Given the description of an element on the screen output the (x, y) to click on. 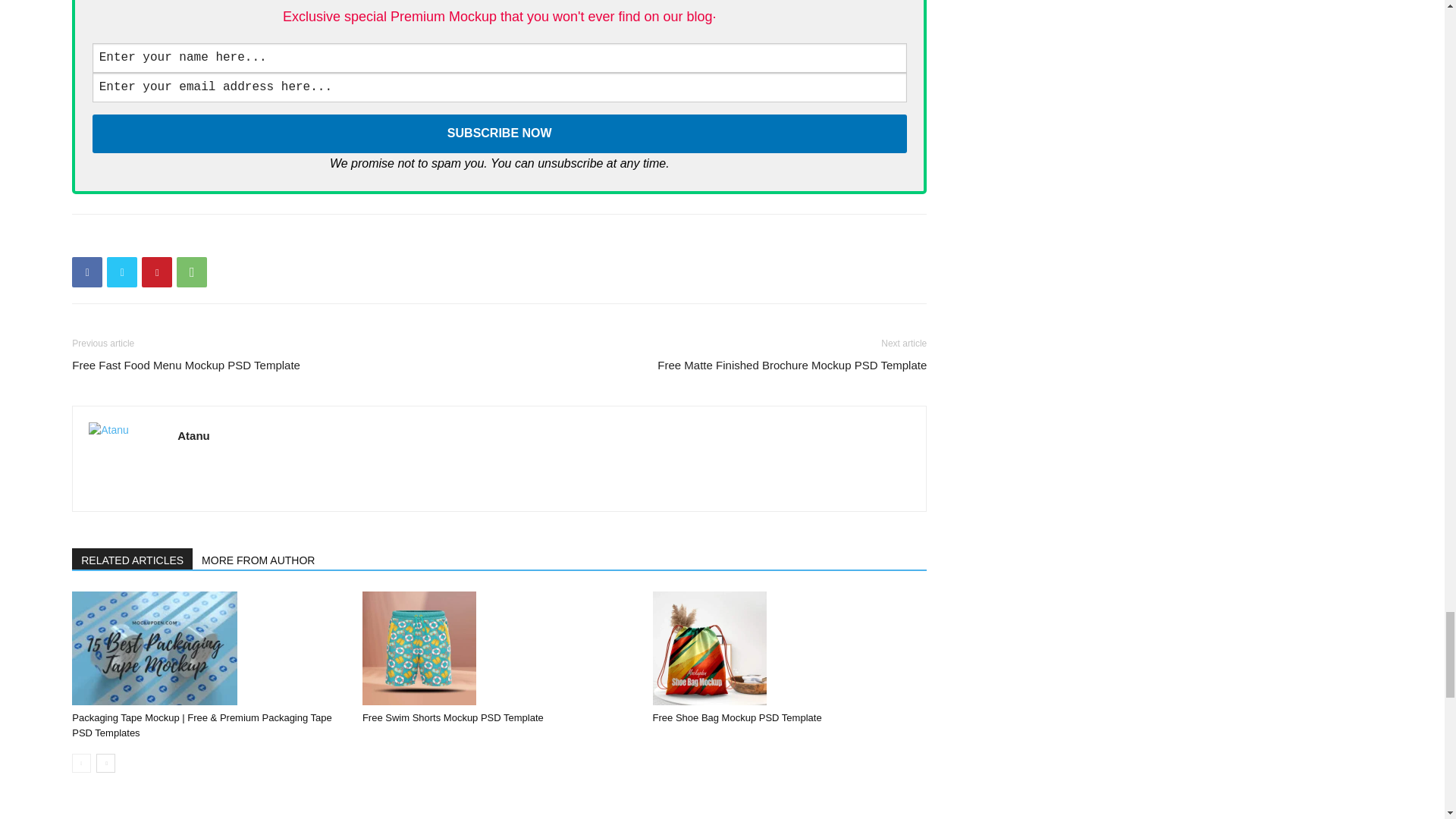
Subscribe Now (500, 133)
